Given the description of an element on the screen output the (x, y) to click on. 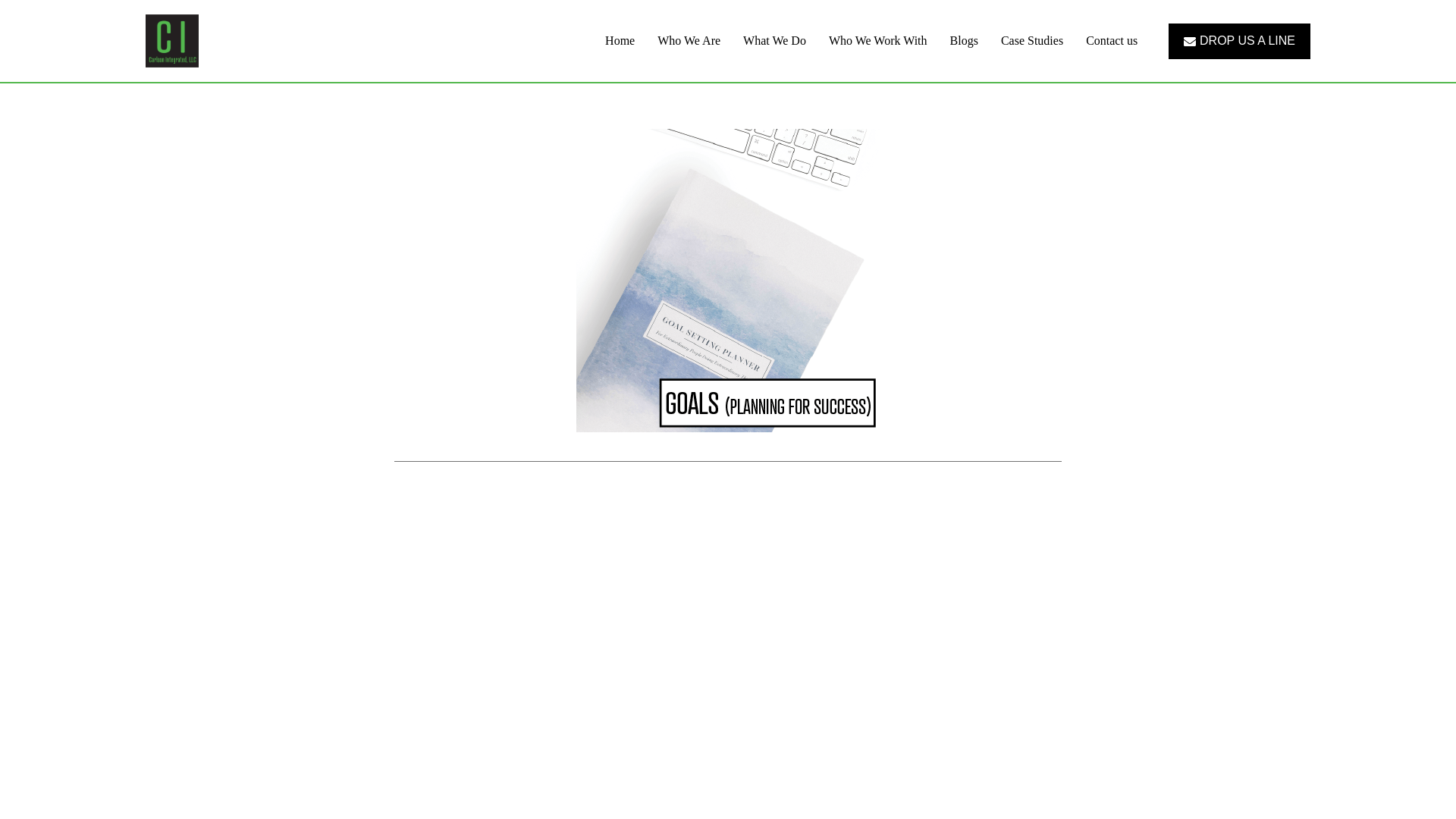
Case Studies (1031, 40)
DROP US A LINE (1239, 40)
What We Do (774, 40)
Blogs (963, 40)
Contact us (1111, 40)
Who We Work With (877, 40)
Home (619, 40)
Who We Are (688, 40)
